Given the description of an element on the screen output the (x, y) to click on. 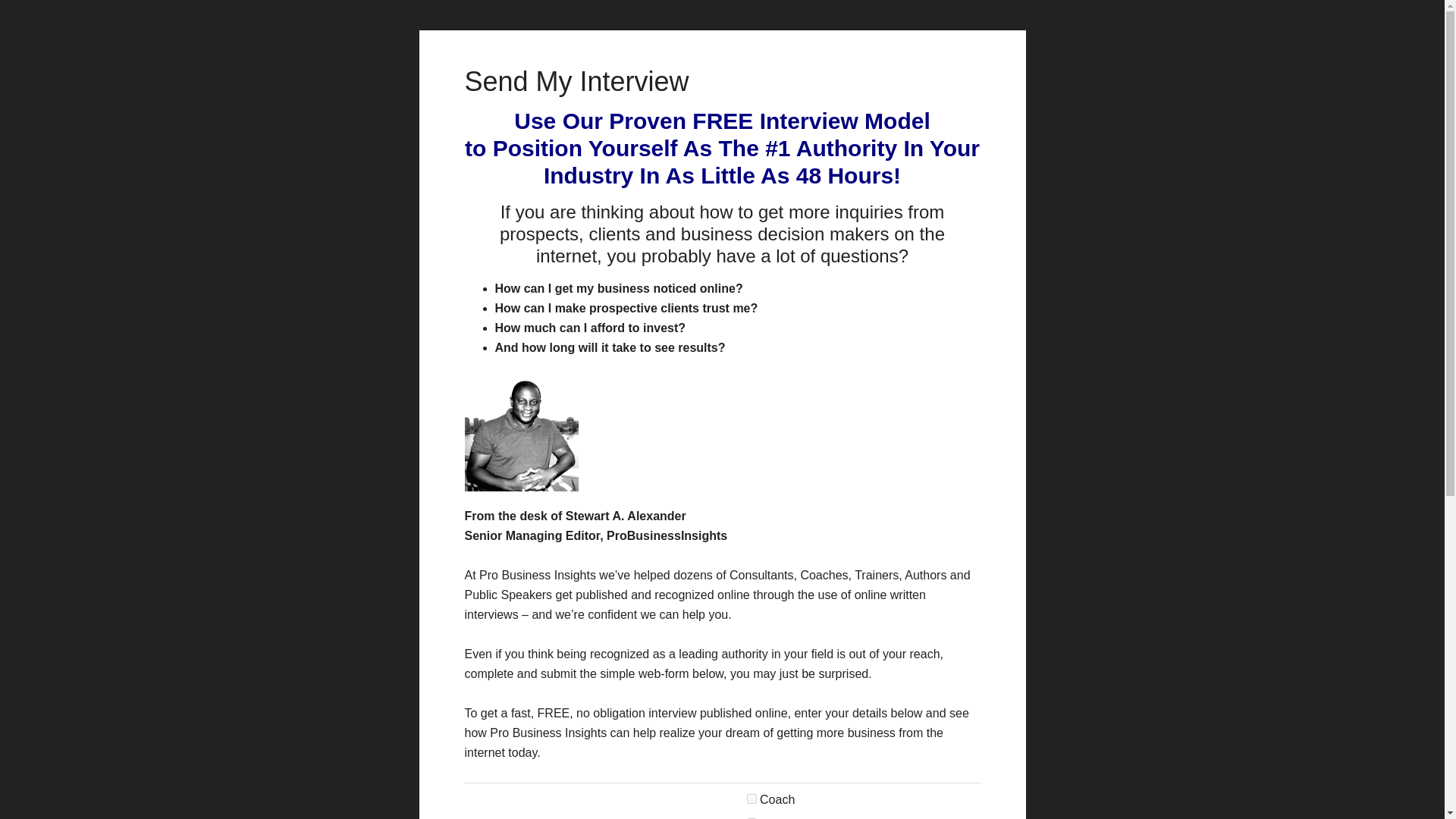
Coach (751, 798)
